Given the description of an element on the screen output the (x, y) to click on. 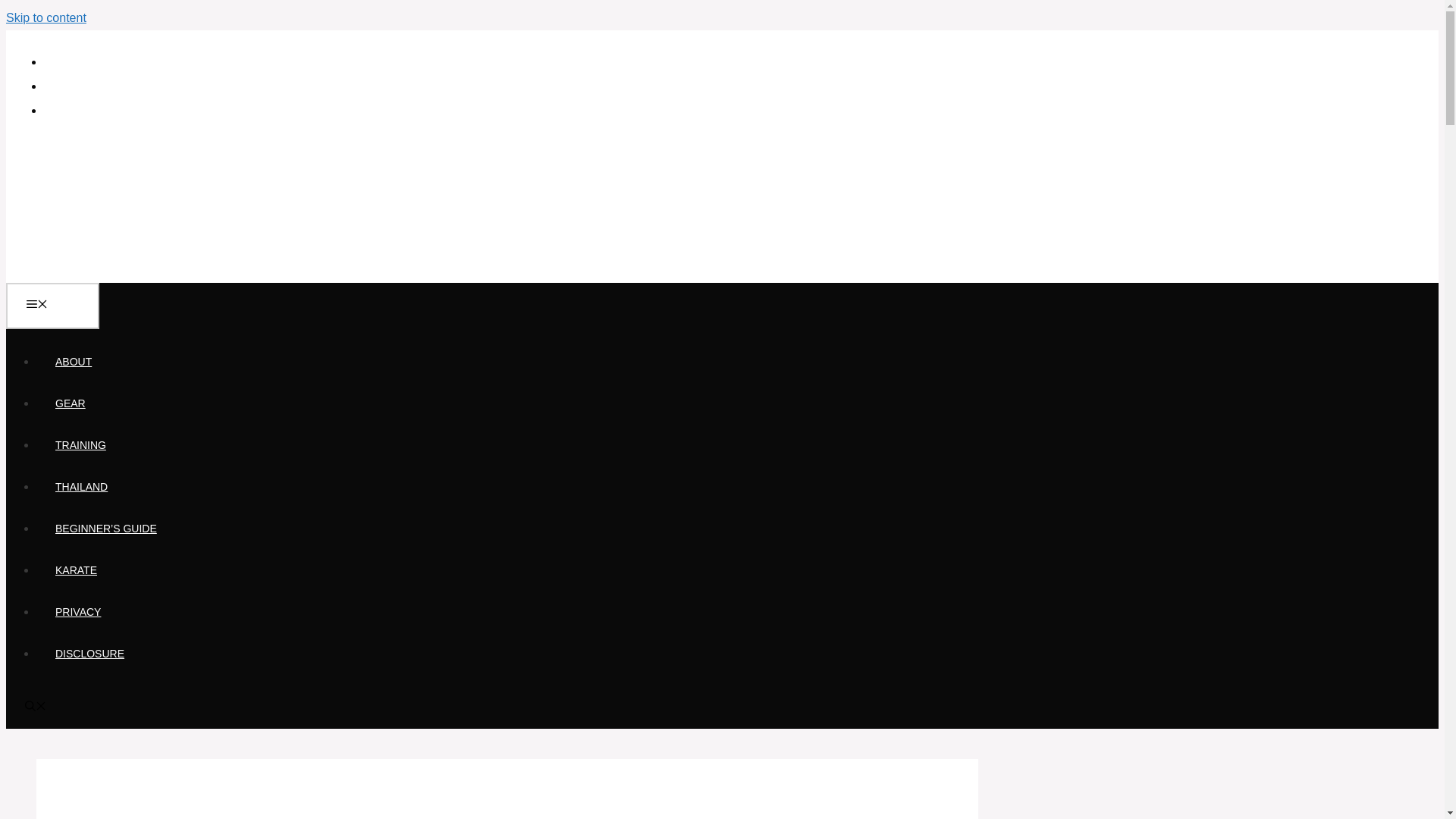
GEAR (70, 403)
Skip to content (45, 17)
PRIVACY (77, 612)
THAILAND (81, 486)
KARATE (76, 570)
DISCLOSURE (89, 653)
ABOUT (73, 361)
TRAINING (80, 444)
MENU (52, 305)
Skip to content (45, 17)
